Given the description of an element on the screen output the (x, y) to click on. 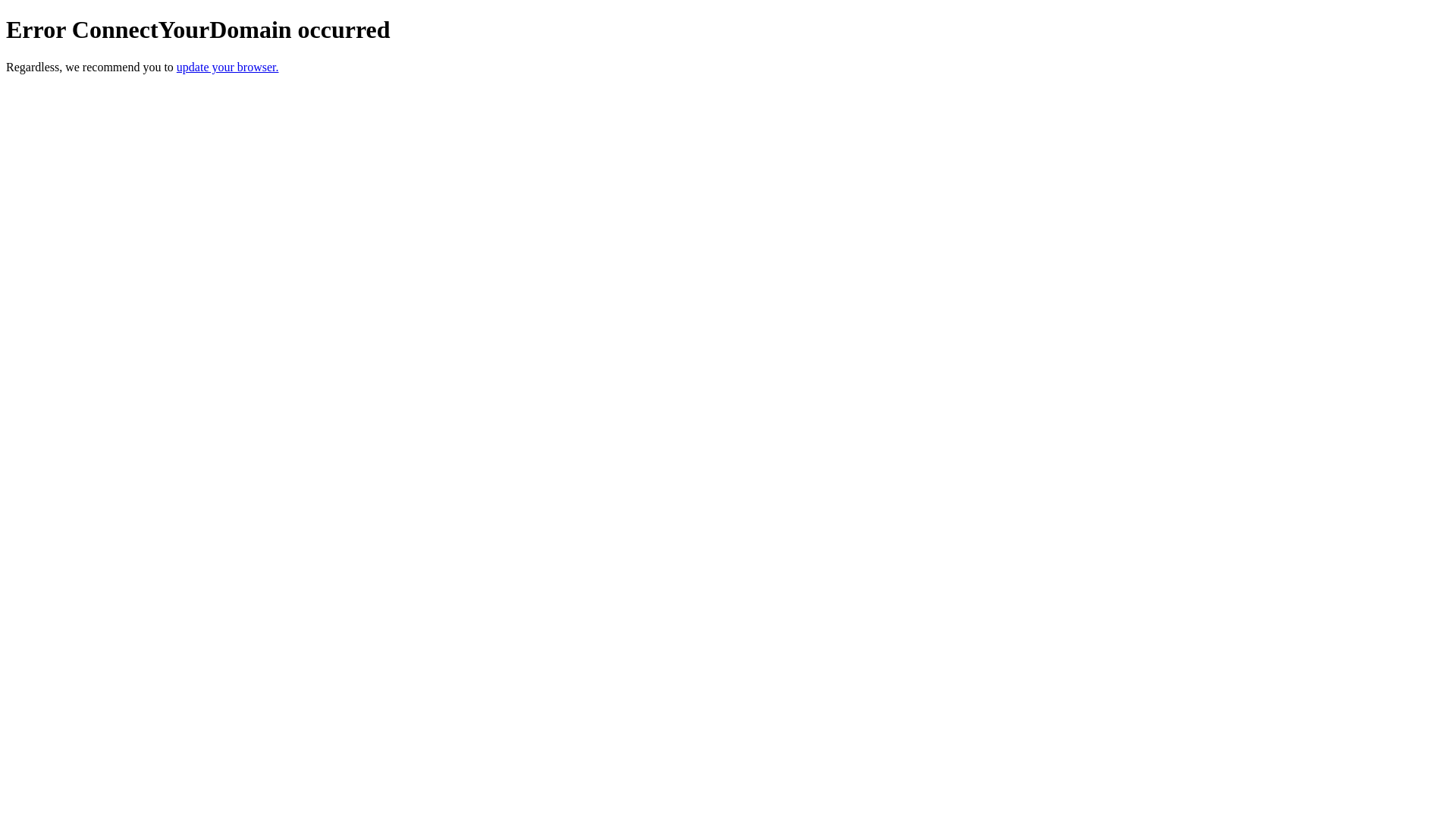
update your browser. Element type: text (227, 66)
